Given the description of an element on the screen output the (x, y) to click on. 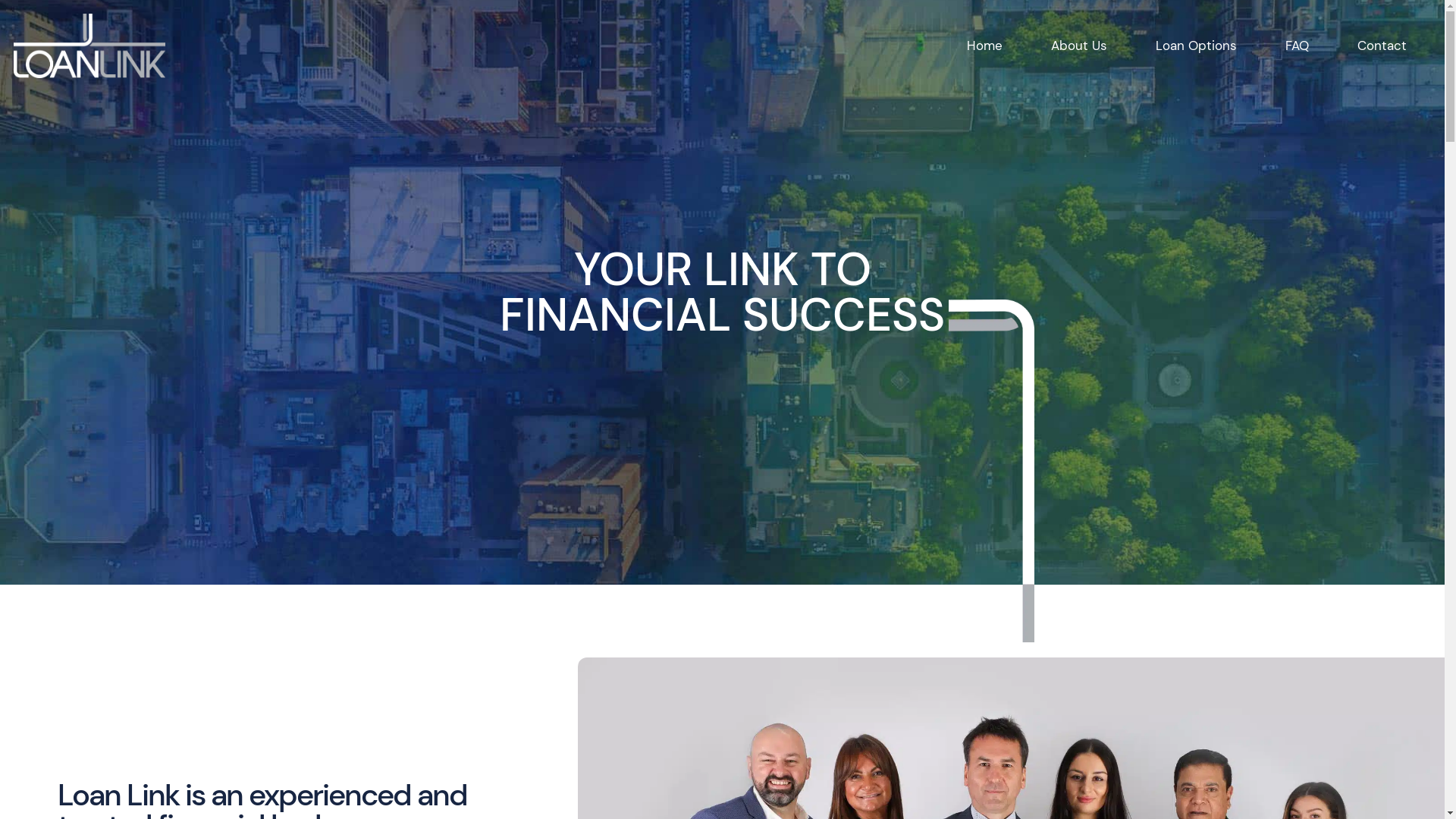
Home Element type: text (984, 45)
FAQ Element type: text (1297, 45)
Contact Element type: text (1381, 45)
About Us Element type: text (1078, 45)
Loan Options Element type: text (1196, 45)
